Given the description of an element on the screen output the (x, y) to click on. 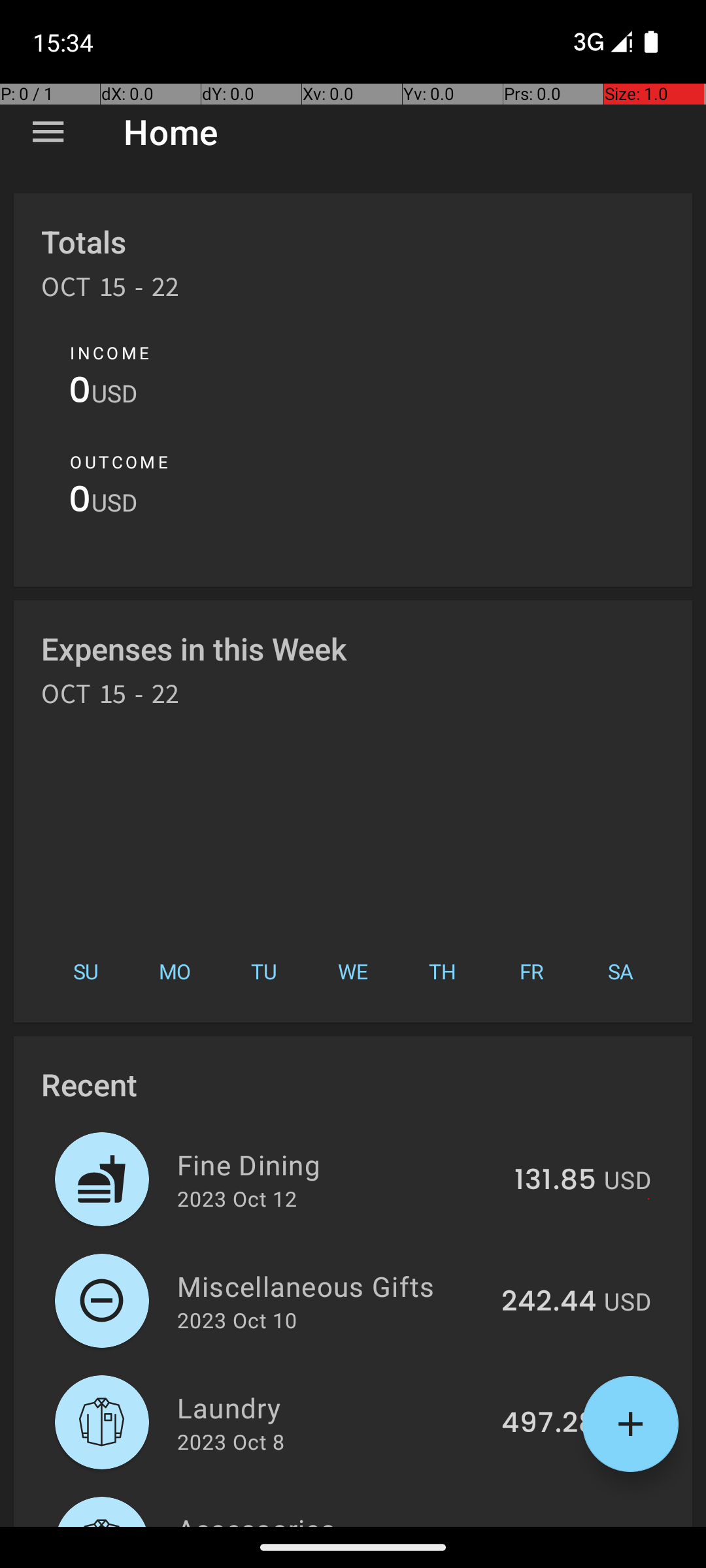
Fine Dining Element type: android.widget.TextView (338, 1164)
131.85 Element type: android.widget.TextView (554, 1180)
Miscellaneous Gifts Element type: android.widget.TextView (331, 1285)
2023 Oct 10 Element type: android.widget.TextView (236, 1320)
242.44 Element type: android.widget.TextView (548, 1301)
Laundry Element type: android.widget.TextView (331, 1407)
2023 Oct 8 Element type: android.widget.TextView (230, 1441)
497.28 Element type: android.widget.TextView (548, 1423)
Accessories Element type: android.widget.TextView (332, 1518)
233.62 Element type: android.widget.TextView (549, 1524)
